Given the description of an element on the screen output the (x, y) to click on. 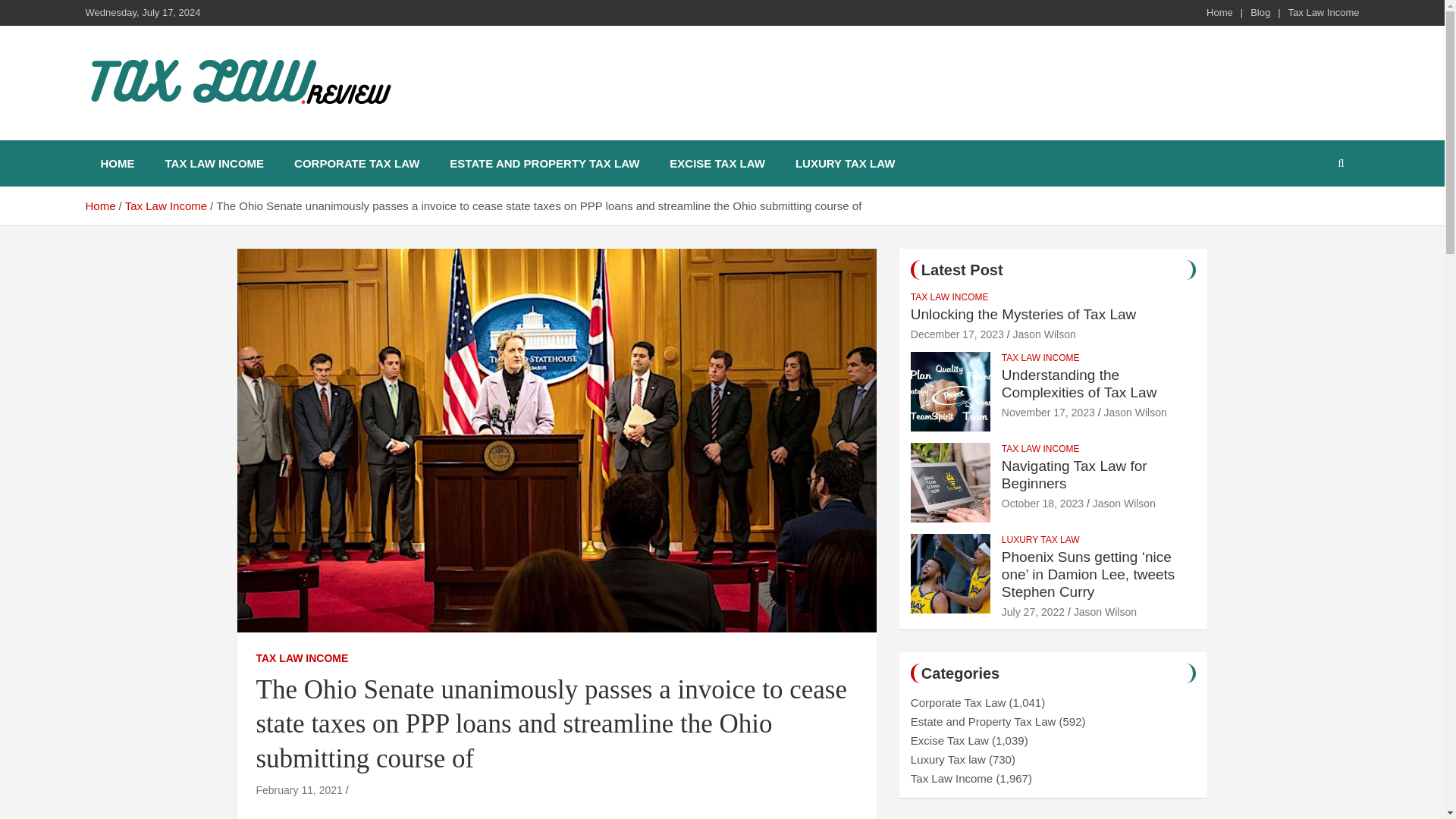
Home (99, 205)
ESTATE AND PROPERTY TAX LAW (543, 163)
Navigating Tax Law for Beginners (1074, 474)
February 11, 2021 (299, 789)
CORPORATE TAX LAW (356, 163)
Latest Post (962, 269)
December 17, 2023 (957, 334)
Unlocking the Mysteries of Tax Law (1023, 314)
TAX LAW INCOME (1040, 358)
Understanding the Complexities of Tax Law (1047, 412)
HOME (116, 163)
November 17, 2023 (1047, 412)
Home (1220, 12)
Unlocking the Mysteries of Tax Law (957, 334)
